Given the description of an element on the screen output the (x, y) to click on. 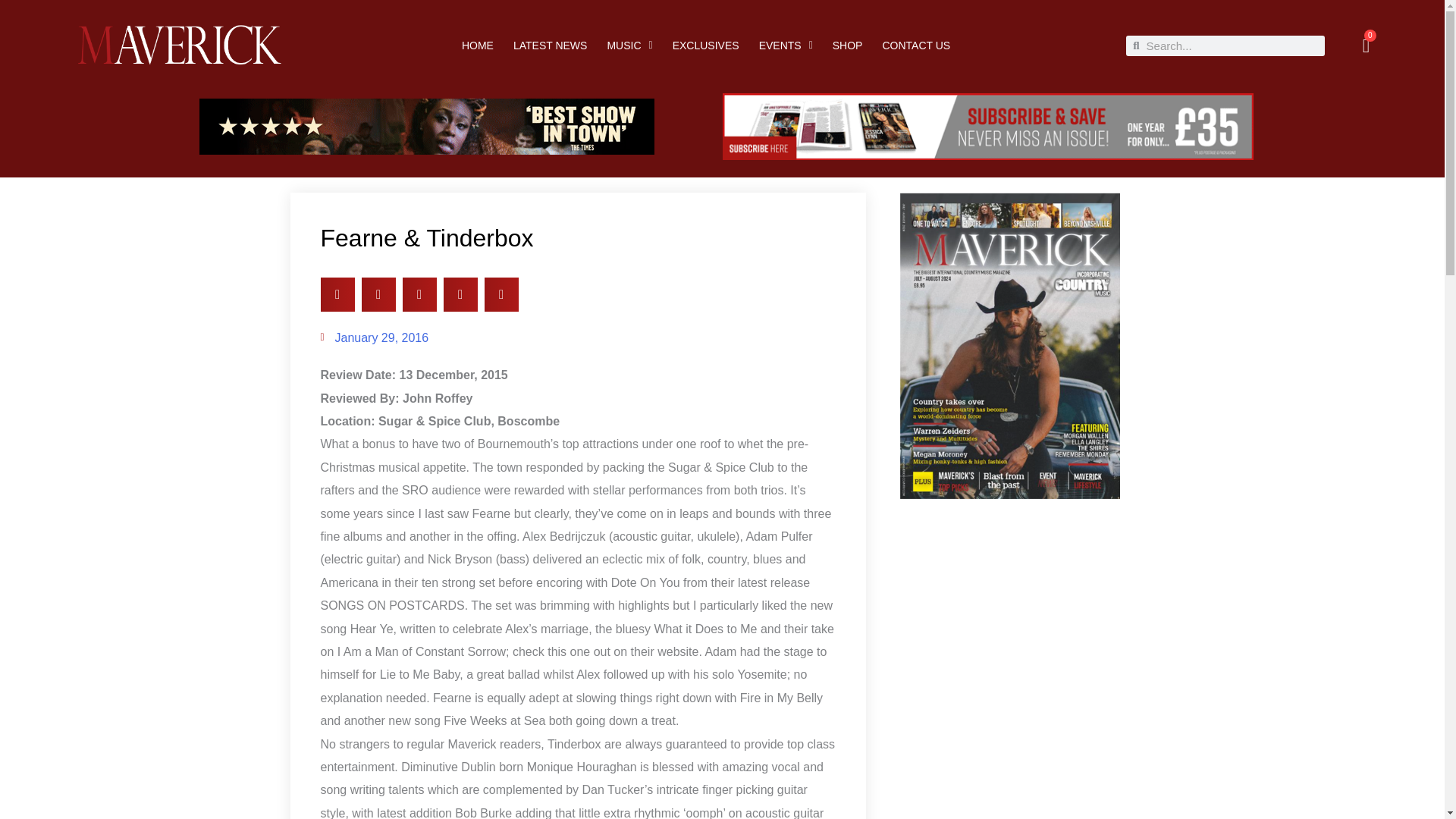
EXCLUSIVES (705, 45)
CONTACT US (1365, 45)
LATEST NEWS (916, 45)
SHOP (550, 45)
HOME (847, 45)
January 29, 2016 (477, 45)
EVENTS (374, 337)
MUSIC (785, 45)
